Given the description of an element on the screen output the (x, y) to click on. 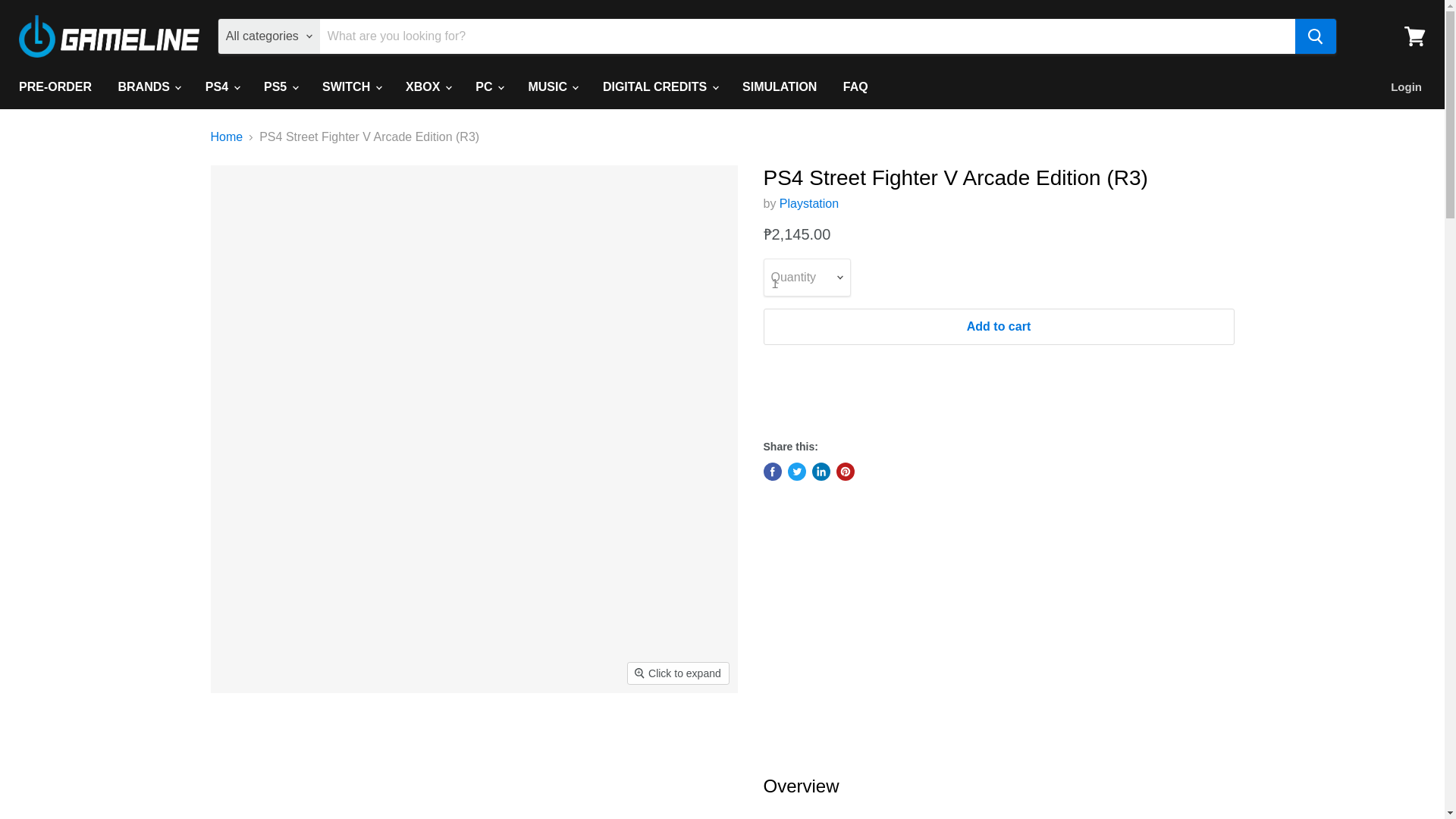
Playstation (808, 203)
BRANDS (148, 87)
View cart (1414, 36)
PRE-ORDER (55, 87)
